Given the description of an element on the screen output the (x, y) to click on. 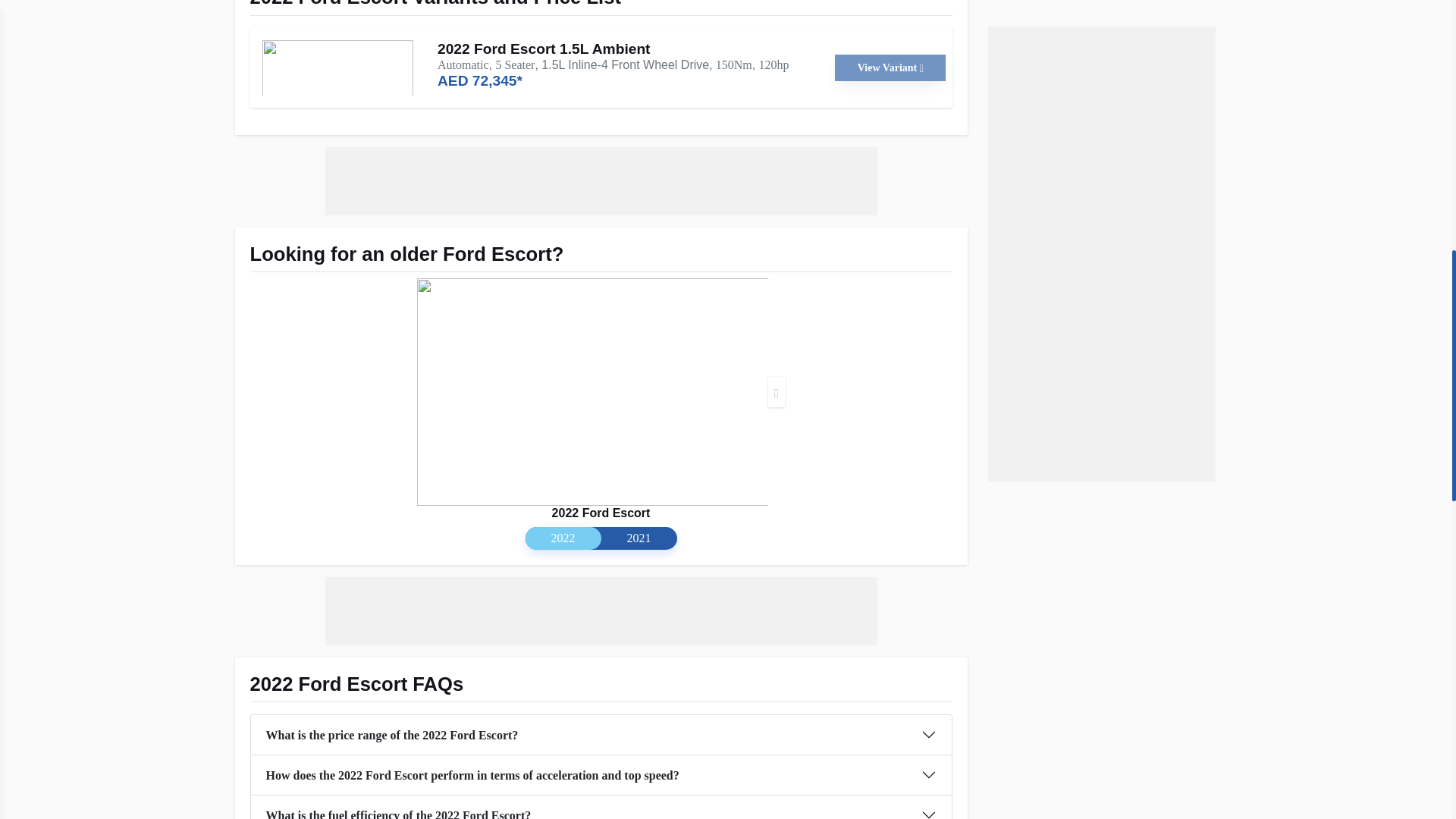
2022 Ford Escort (601, 513)
What is the fuel efficiency of the 2022 Ford Escort? (600, 807)
What is the price range of the 2022 Ford Escort? (600, 734)
View Variant (889, 67)
